Given the description of an element on the screen output the (x, y) to click on. 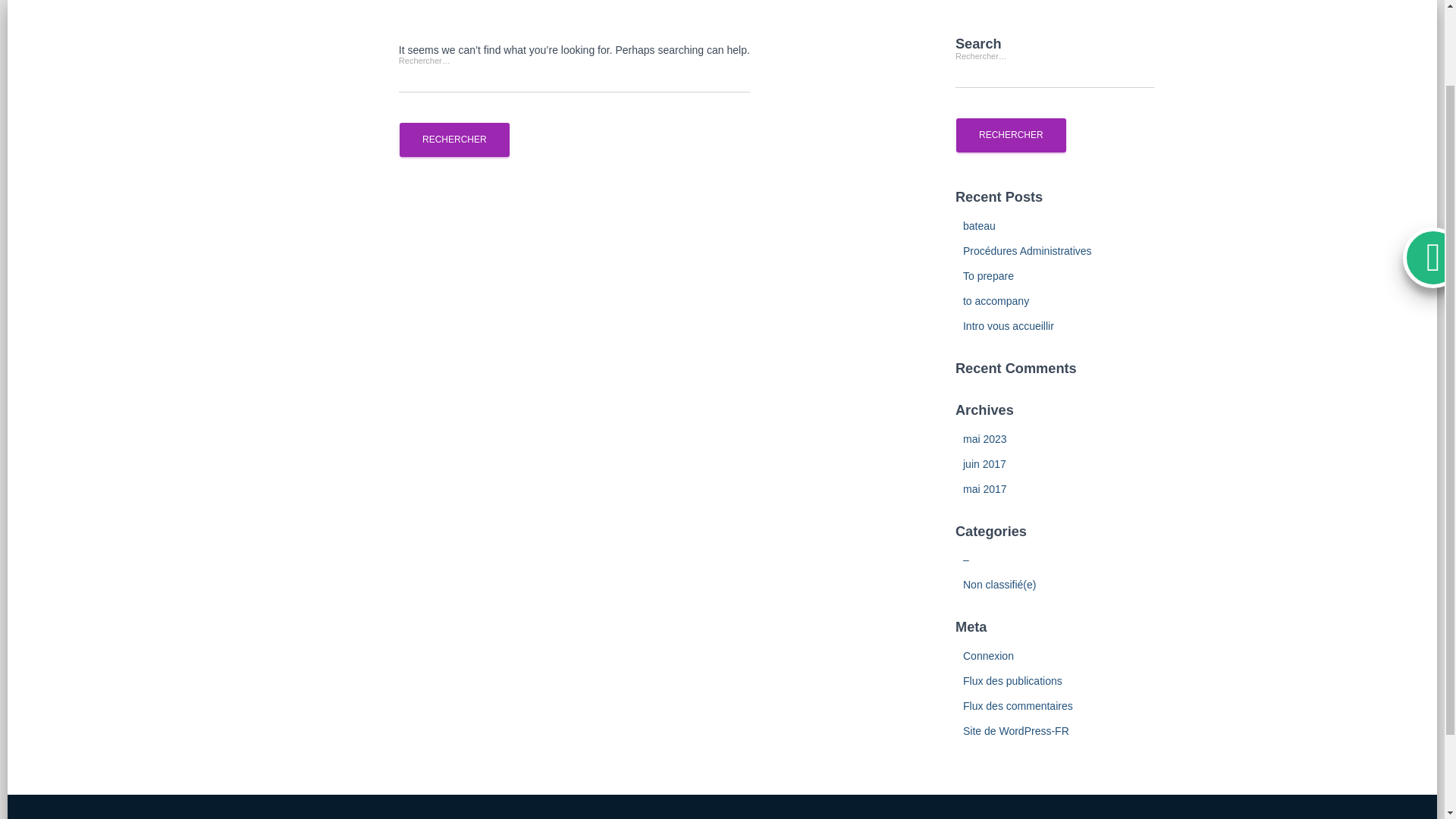
Rechercher (453, 139)
Rechercher (453, 139)
bateau (978, 225)
To prepare (987, 275)
Intro vous accueillir (1008, 326)
Connexion (987, 655)
Flux des publications (1012, 680)
mai 2017 (984, 489)
Rechercher (1010, 134)
Flux des commentaires (1017, 705)
Rechercher (1010, 134)
Site de WordPress-FR (1015, 730)
to accompany (995, 300)
Rechercher (453, 139)
mai 2023 (984, 439)
